Given the description of an element on the screen output the (x, y) to click on. 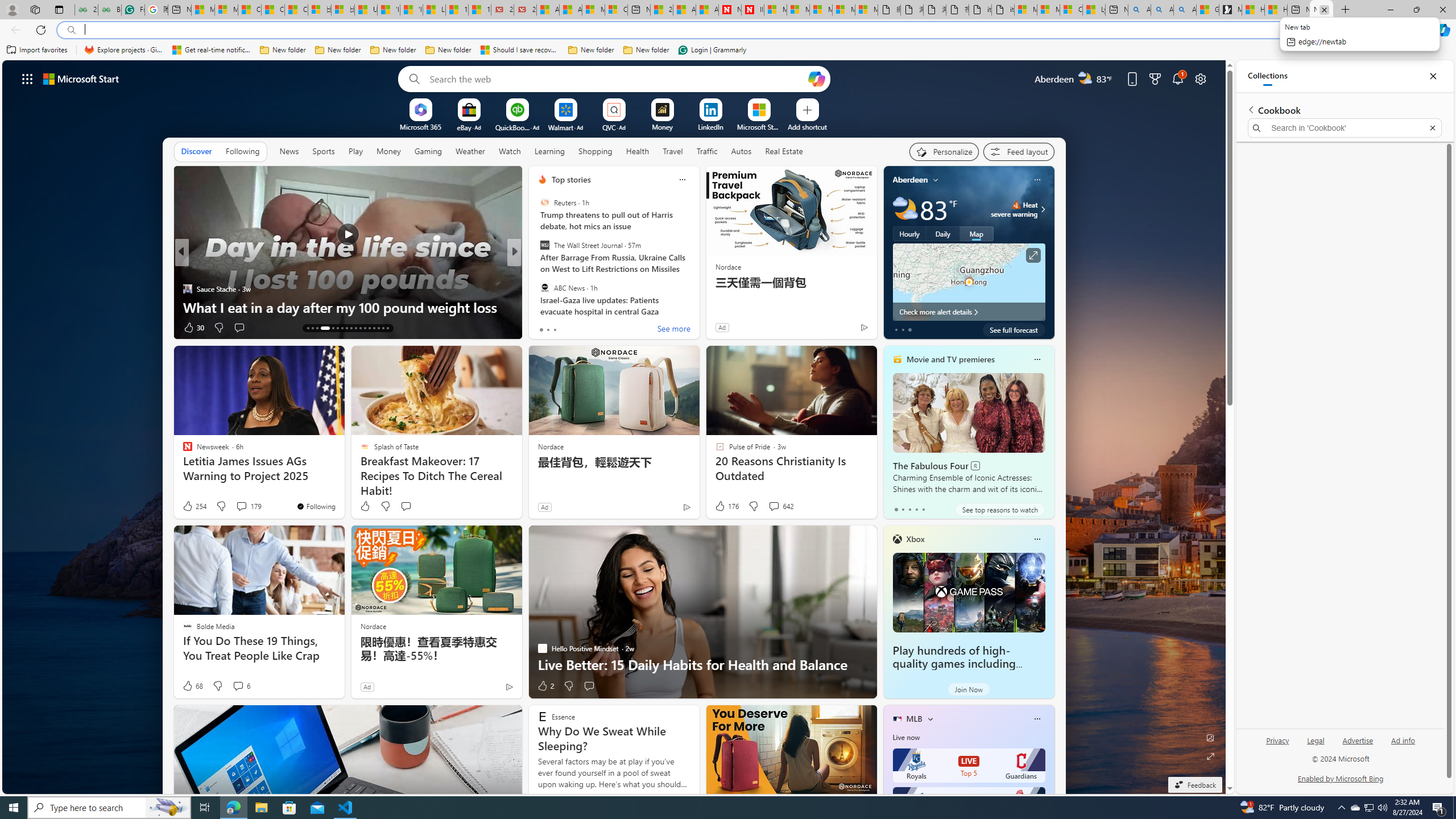
Top stories (571, 179)
Class: weather-arrow-glyph (1043, 208)
Back to list of collections (1250, 109)
Click to see more information (1033, 255)
